Given the description of an element on the screen output the (x, y) to click on. 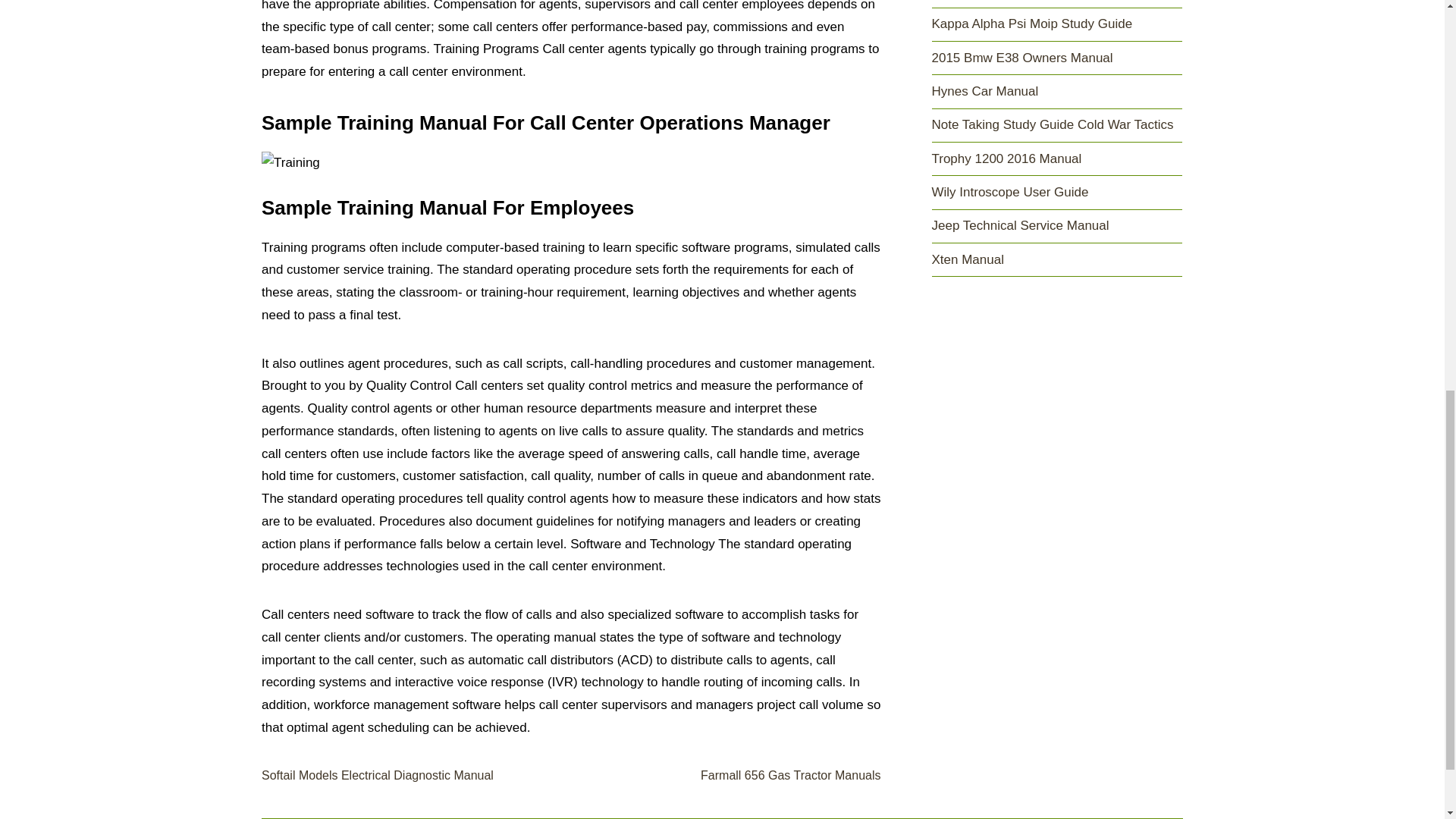
Note Taking Study Guide Cold War Tactics (1052, 124)
Farmall 656 Gas Tractor Manuals (790, 775)
2015 Bmw E38 Owners Manual (1021, 57)
Softail Models Electrical Diagnostic Manual (377, 775)
Xten Manual (967, 259)
Wily Introscope User Guide (1009, 192)
Hynes Car Manual (984, 91)
Trophy 1200 2016 Manual (1006, 158)
Kappa Alpha Psi Moip Study Guide (1031, 23)
Training (291, 162)
Jeep Technical Service Manual (1019, 225)
